Given the description of an element on the screen output the (x, y) to click on. 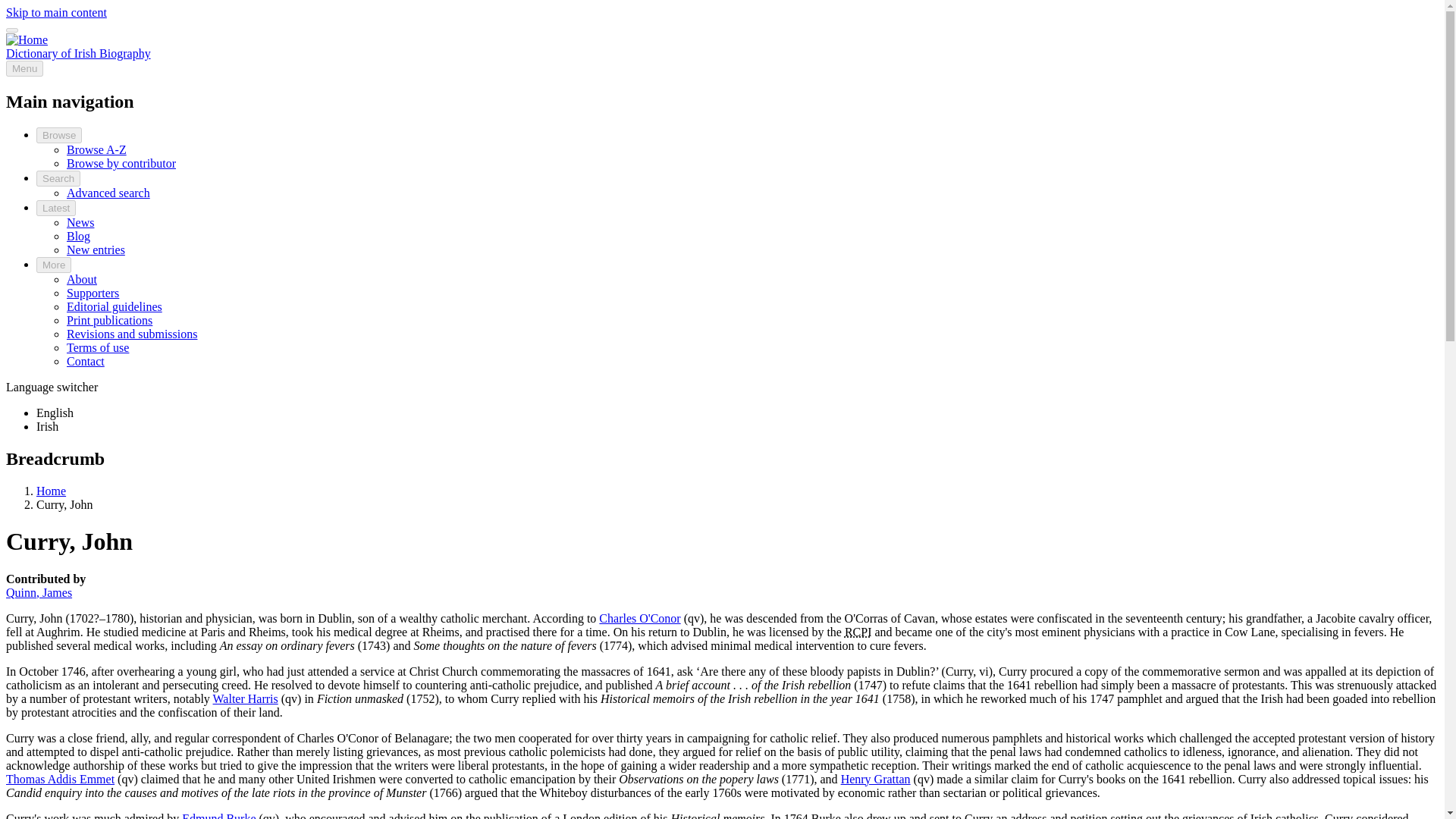
How to request revisions or new biographies  (131, 333)
Latest (55, 207)
Search biographies (107, 192)
Information about the Dictionary of Irish Biography (81, 278)
Charles O'Conor (638, 617)
Revisions and submissions (131, 333)
More site pages (53, 264)
Home (78, 52)
Dictionary of Irish Biography (78, 52)
Menu (24, 68)
Blog (78, 236)
Terms of use (97, 347)
Browse biographies (58, 135)
Advanced search (107, 192)
Information about our sponsors and funding (92, 292)
